Given the description of an element on the screen output the (x, y) to click on. 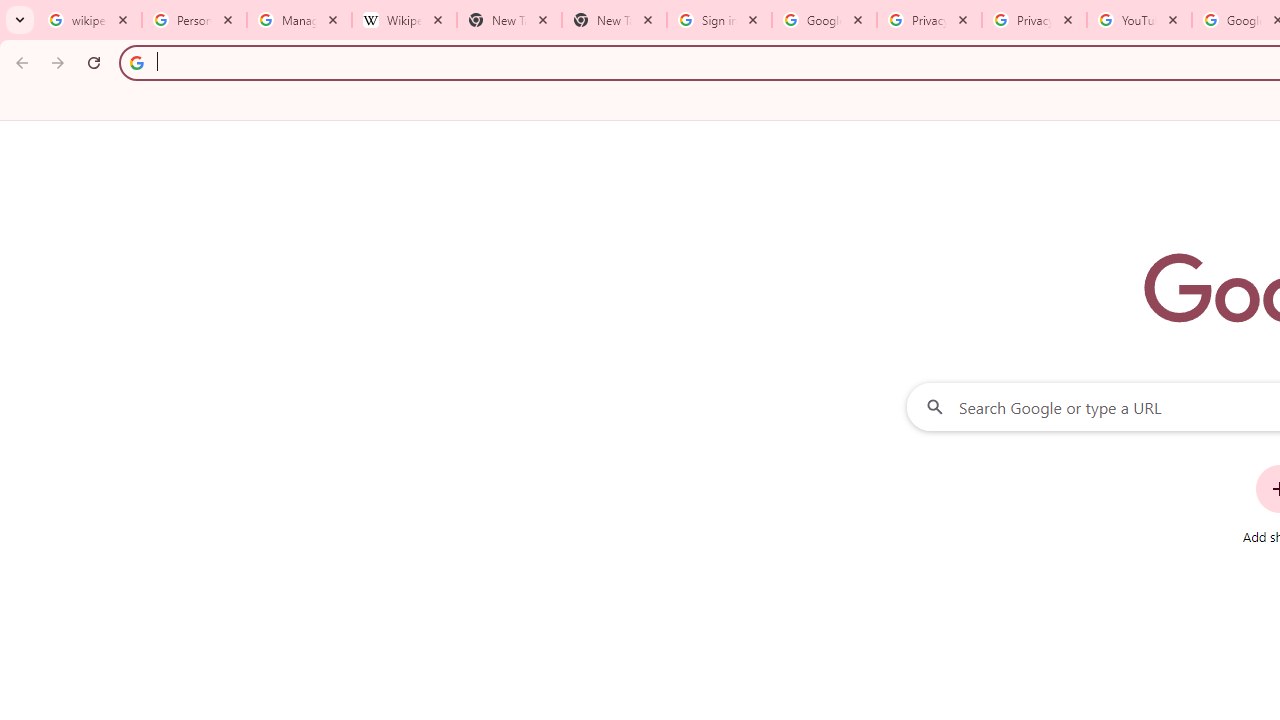
Search icon (136, 62)
New Tab (613, 20)
